Given the description of an element on the screen output the (x, y) to click on. 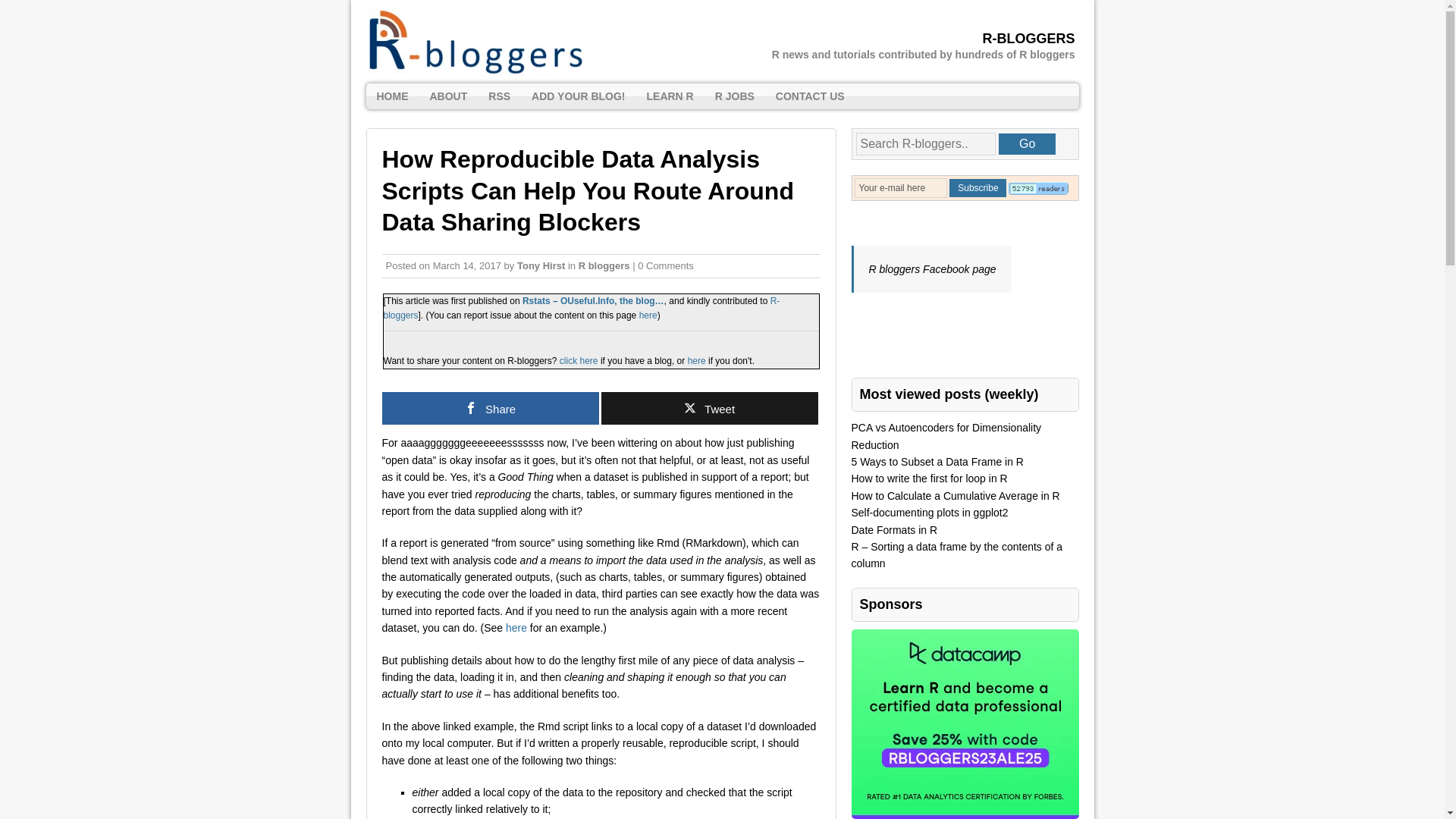
R-bloggers (721, 41)
Go (1026, 143)
HOME (392, 95)
Tweet (707, 408)
LEARN R (668, 95)
R-bloggers (582, 308)
R bloggers (604, 265)
RSS (499, 95)
R JOBS (734, 95)
here (516, 627)
